Given the description of an element on the screen output the (x, y) to click on. 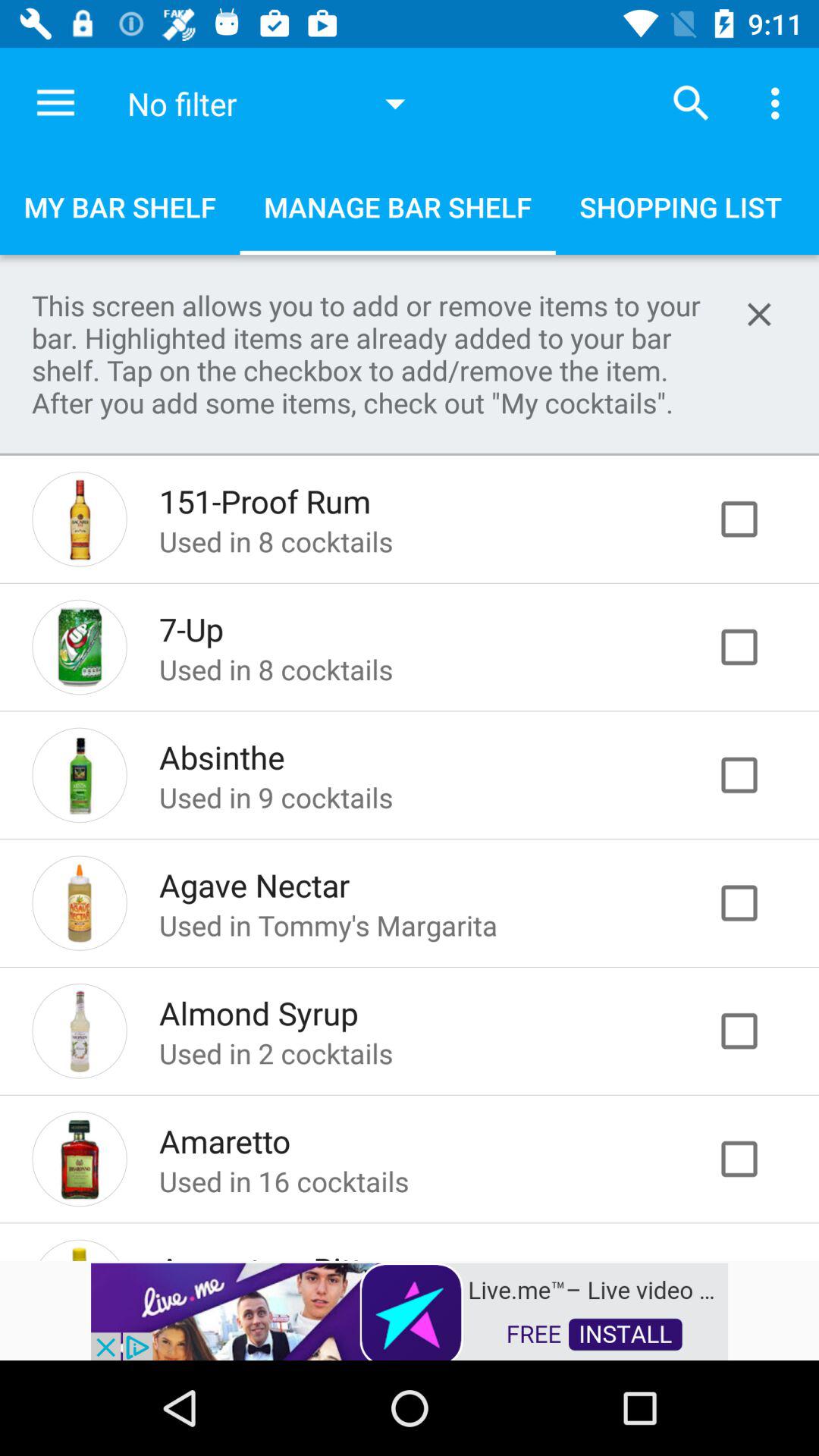
go to advertisement (755, 1158)
